Given the description of an element on the screen output the (x, y) to click on. 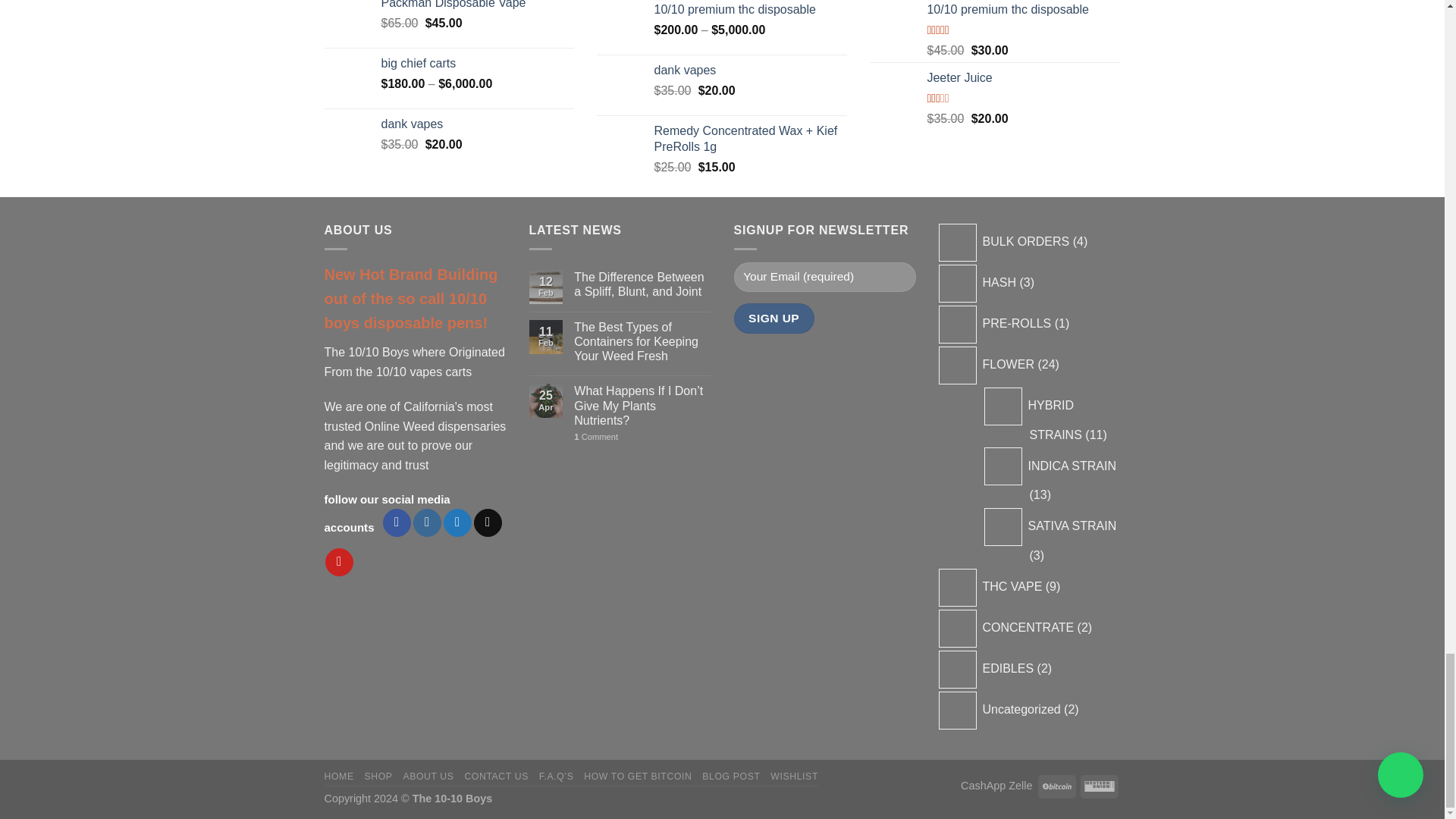
The Best Types of Containers for Keeping Your Weed Fresh (641, 341)
Sign Up (773, 317)
The Difference Between a Spliff, Blunt, and Joint (641, 284)
